Given the description of an element on the screen output the (x, y) to click on. 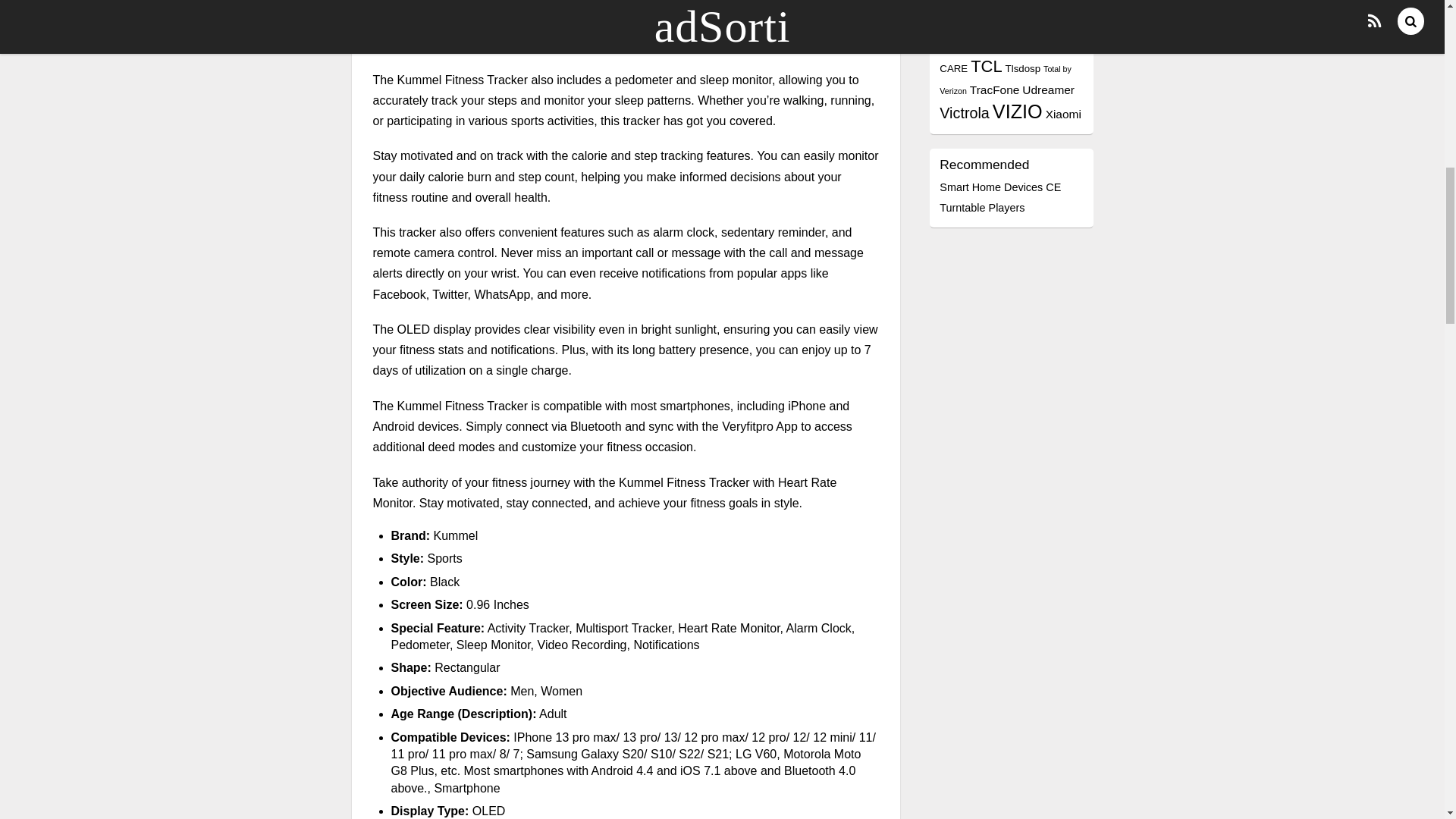
Presentations and video reviews on smart home devices CE (1000, 186)
Turntable Players (982, 207)
